Given the description of an element on the screen output the (x, y) to click on. 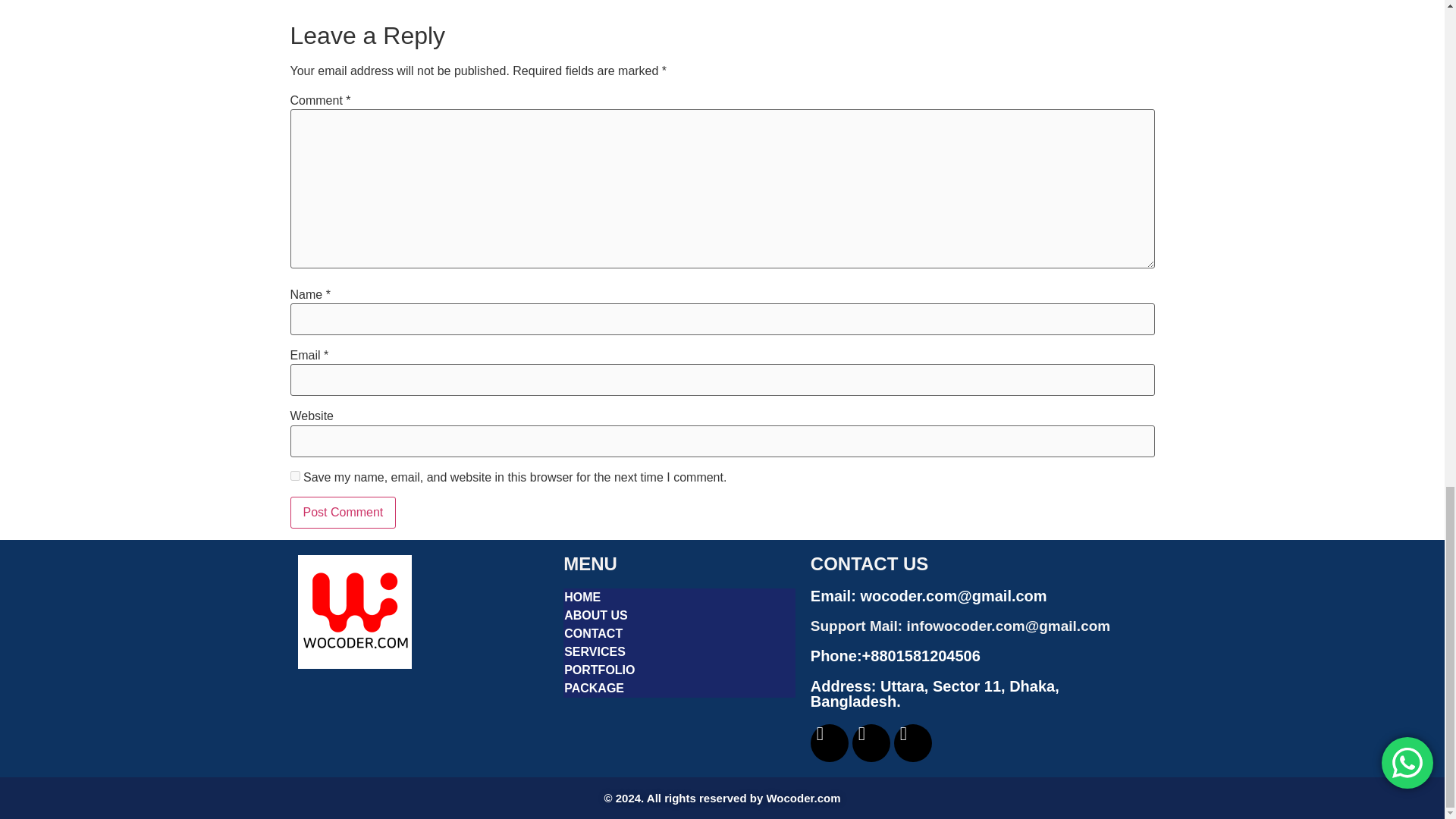
yes (294, 475)
CONTACT (678, 633)
PACKAGE (678, 688)
HOME (678, 597)
Post Comment (342, 512)
PORTFOLIO (678, 669)
ABOUT US (678, 615)
Post Comment (342, 512)
SERVICES (678, 651)
